Given the description of an element on the screen output the (x, y) to click on. 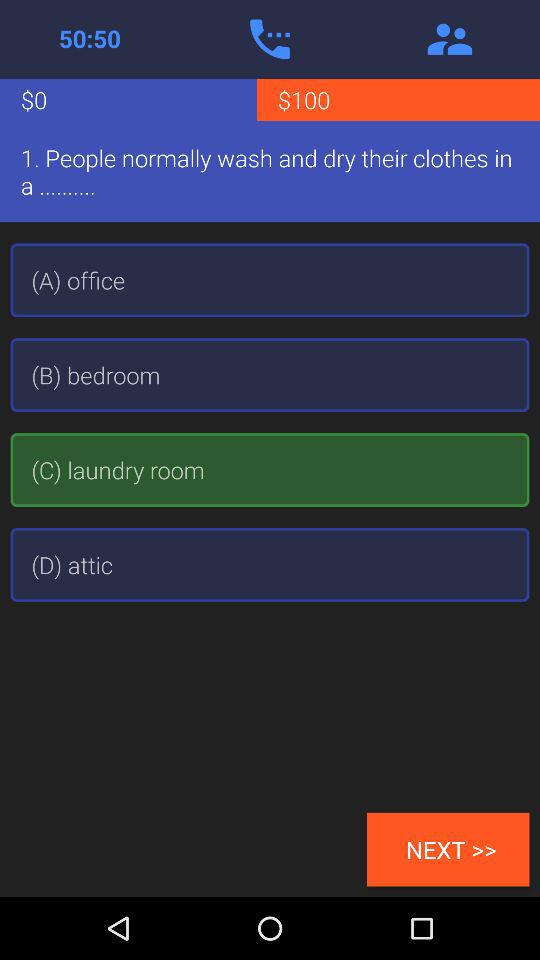
active call time (90, 39)
